Given the description of an element on the screen output the (x, y) to click on. 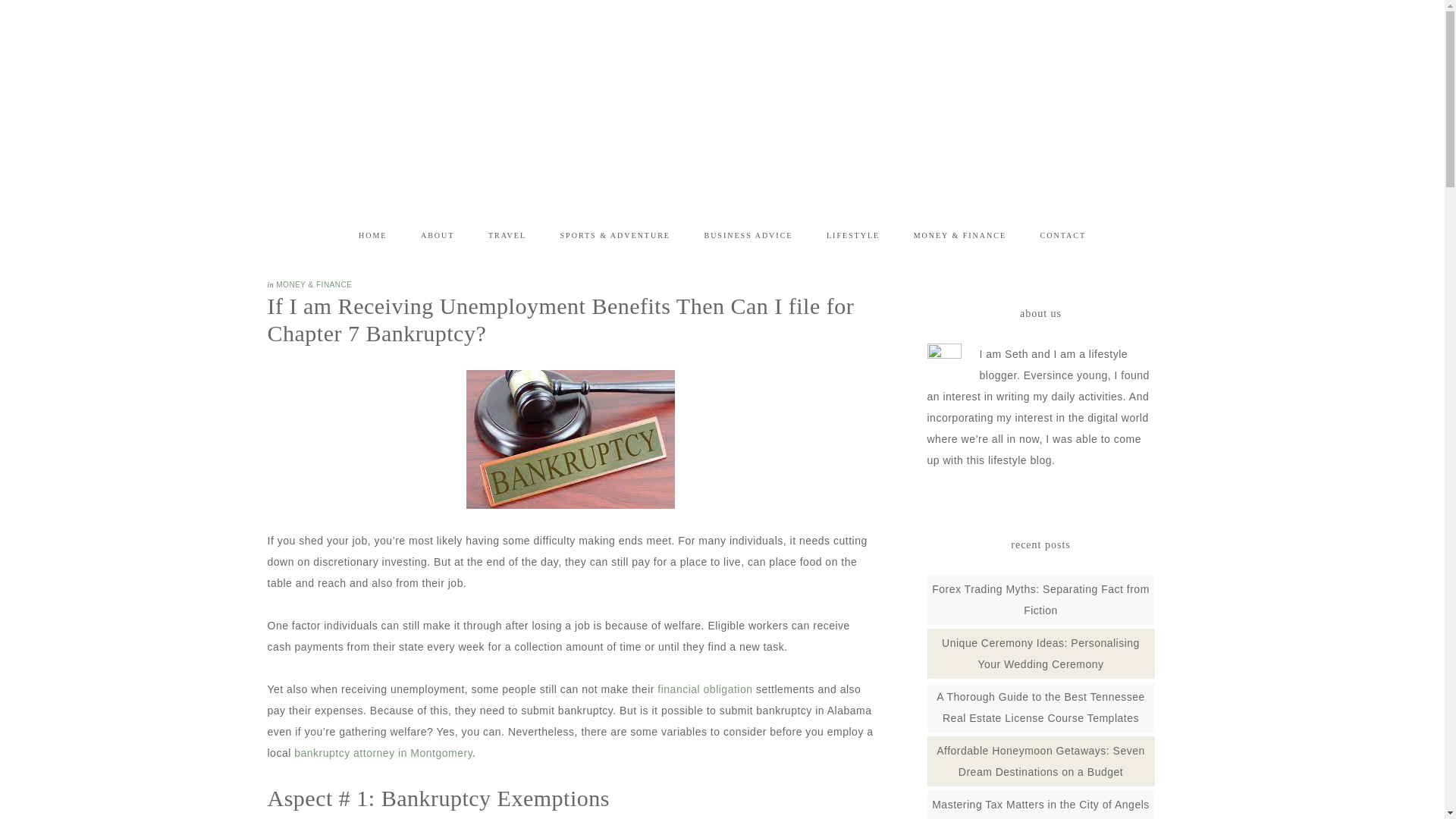
CONTACT (1062, 235)
A VIEW FROM THE CAVE (418, 102)
TRAVEL (507, 235)
LIFESTYLE (852, 235)
HOME (372, 235)
ABOUT (437, 235)
Mastering Tax Matters in the City of Angels (1040, 804)
financial obligation (705, 689)
BUSINESS ADVICE (748, 235)
